Given the description of an element on the screen output the (x, y) to click on. 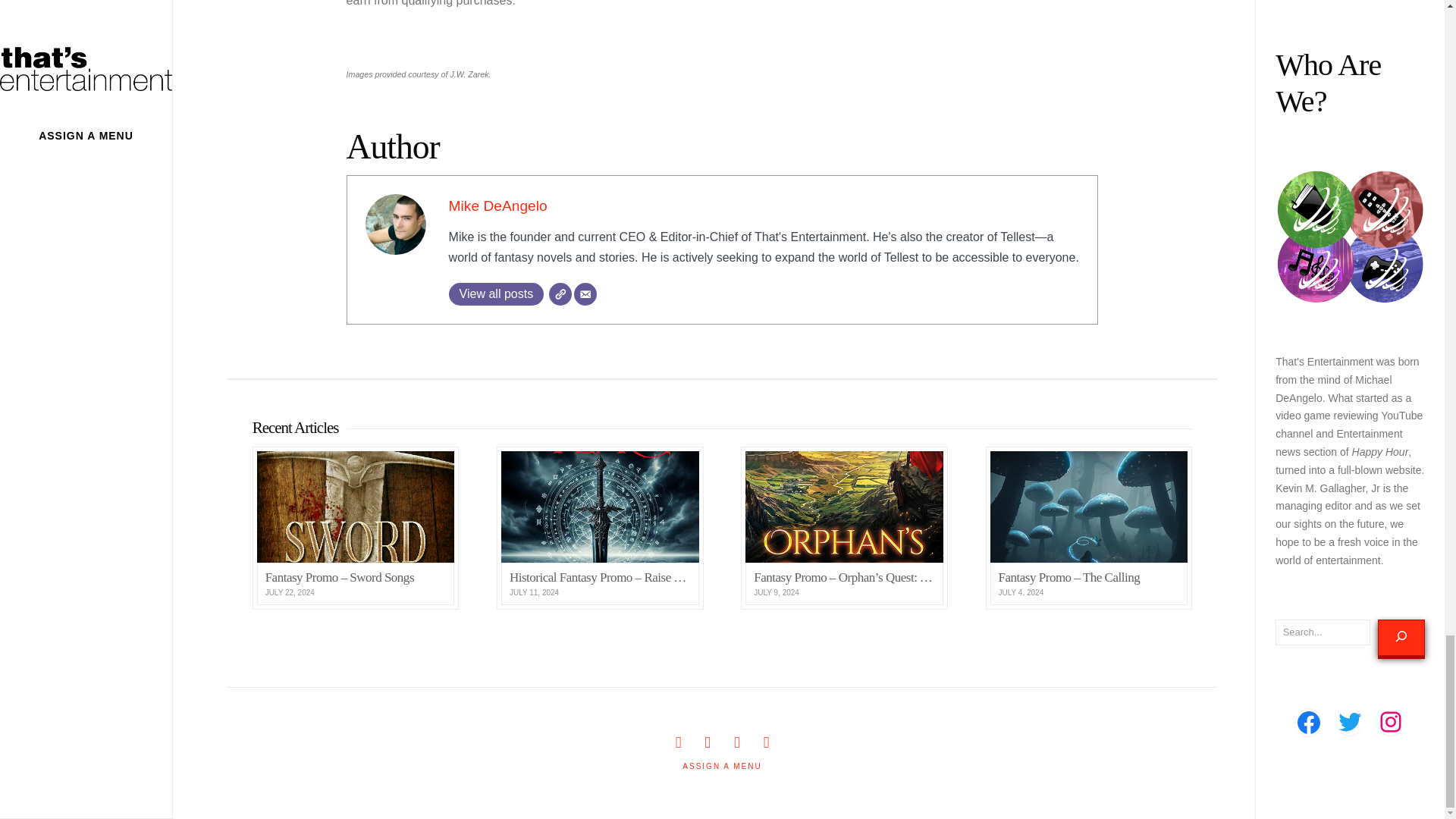
View all posts (496, 293)
Mike DeAngelo (497, 205)
ASSIGN A MENU (721, 766)
Mike DeAngelo (497, 205)
View all posts (496, 293)
